Given the description of an element on the screen output the (x, y) to click on. 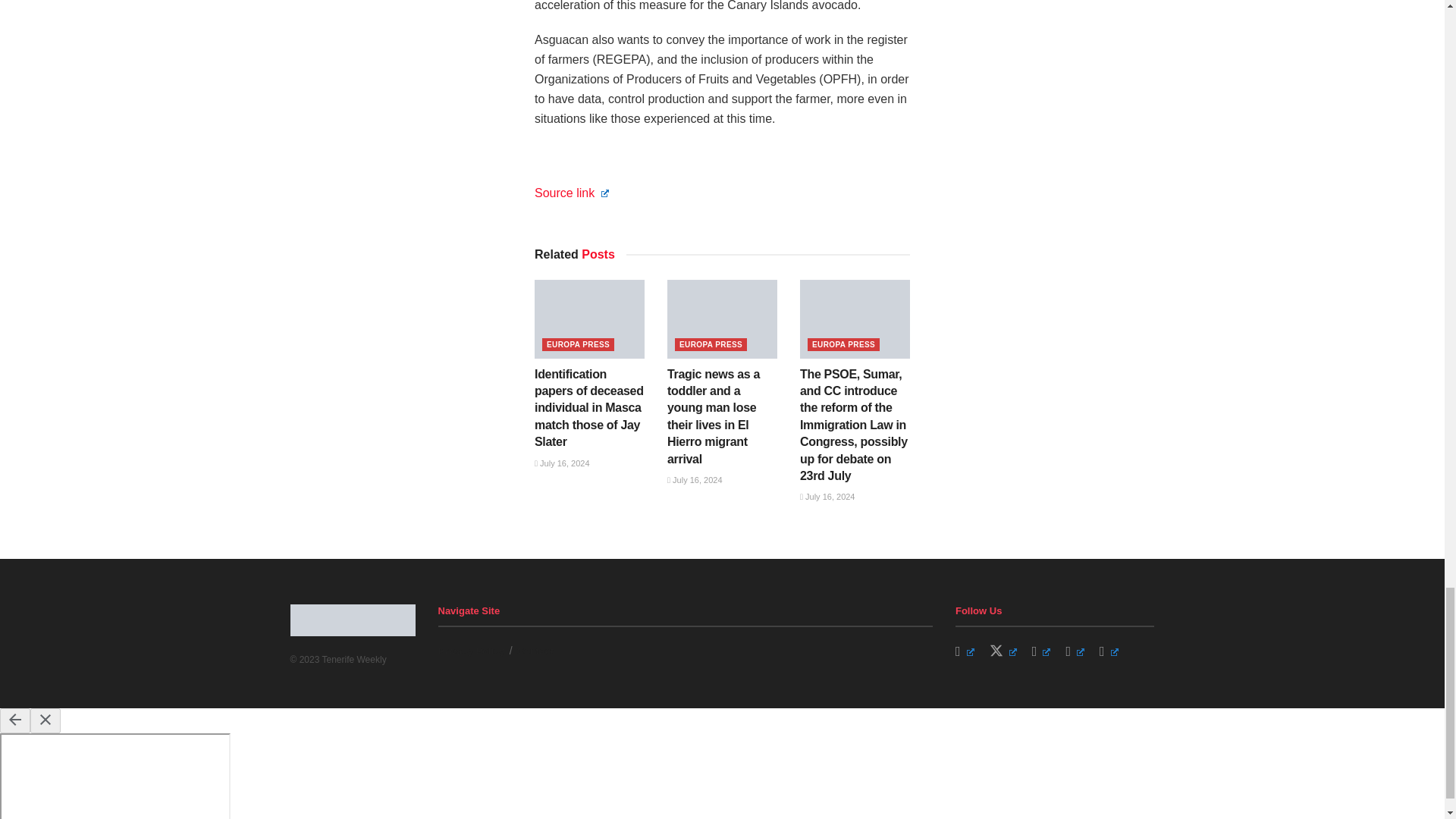
Source link (571, 192)
EUROPA PRESS (577, 344)
